Given the description of an element on the screen output the (x, y) to click on. 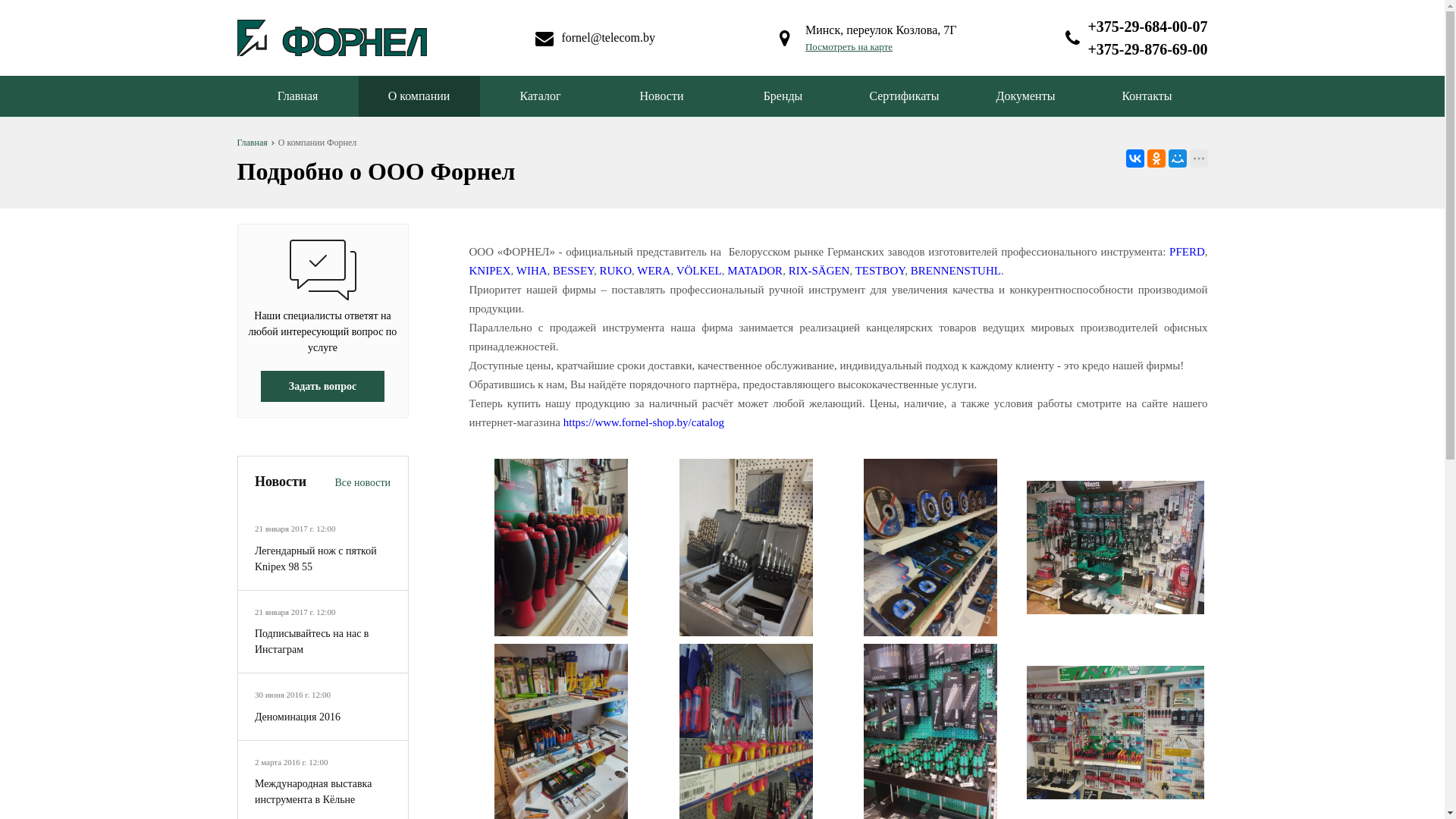
PFERD Element type: text (1186, 251)
fornel@telecom.by Element type: text (608, 37)
RUKO Element type: text (615, 270)
BRENNENSTUHL Element type: text (955, 270)
KNIPEX Element type: text (489, 270)
+375-29-684-00-07 Element type: text (1147, 26)
MATADOR Element type: text (754, 270)
BESSEY Element type: text (572, 270)
+375-29-876-69-00 Element type: text (1147, 48)
https://www.fornel-shop.by/catalog Element type: text (643, 422)
TESTBOY Element type: text (880, 270)
WERA Element type: text (653, 270)
WIHA Element type: text (531, 270)
